Given the description of an element on the screen output the (x, y) to click on. 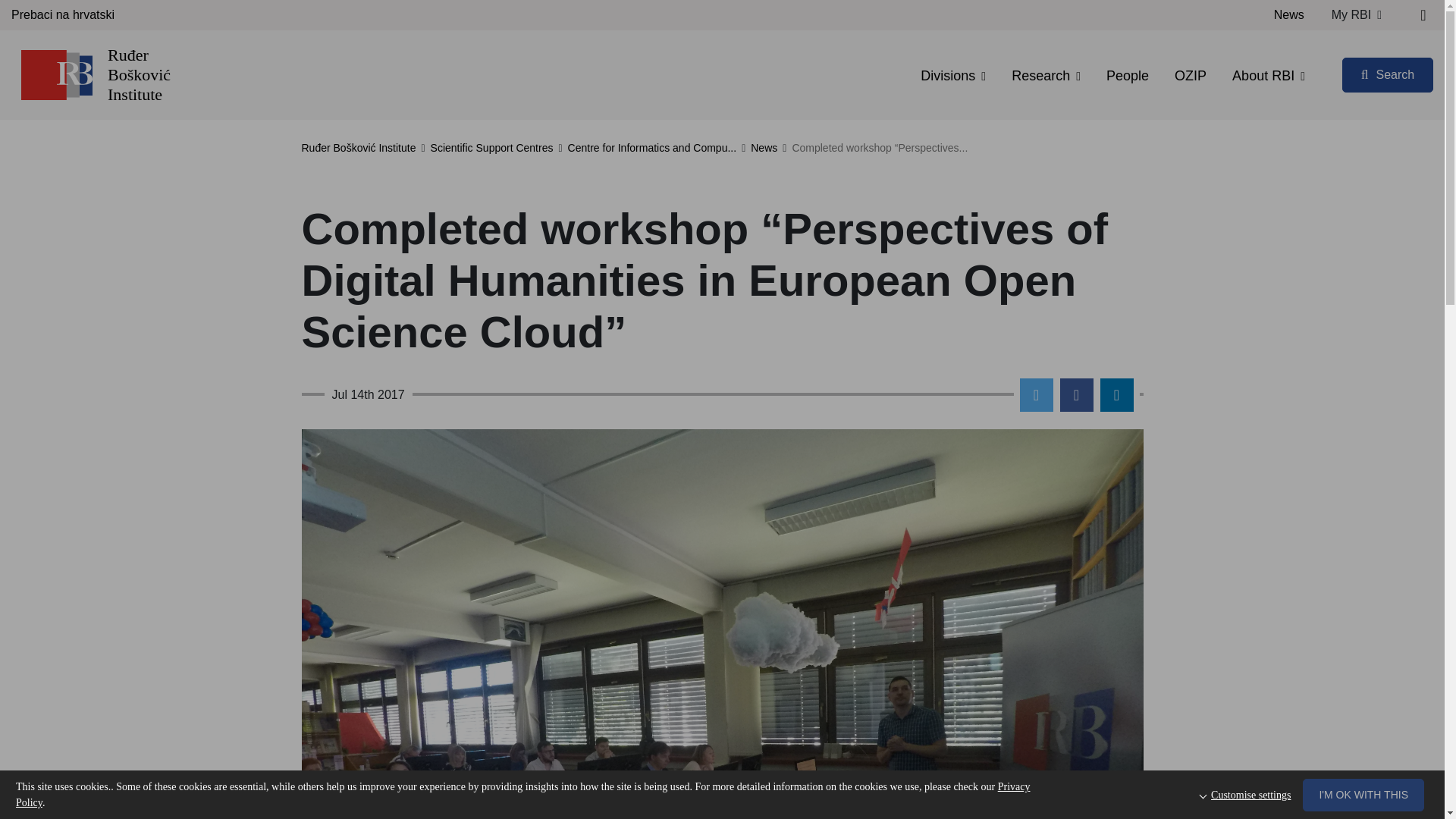
Prebaci na hrvatski (63, 15)
Prebaci na hrvatski (63, 15)
Search (1387, 74)
Back to home page (56, 74)
News (1289, 14)
People (1127, 75)
OZIP (1190, 75)
